Given the description of an element on the screen output the (x, y) to click on. 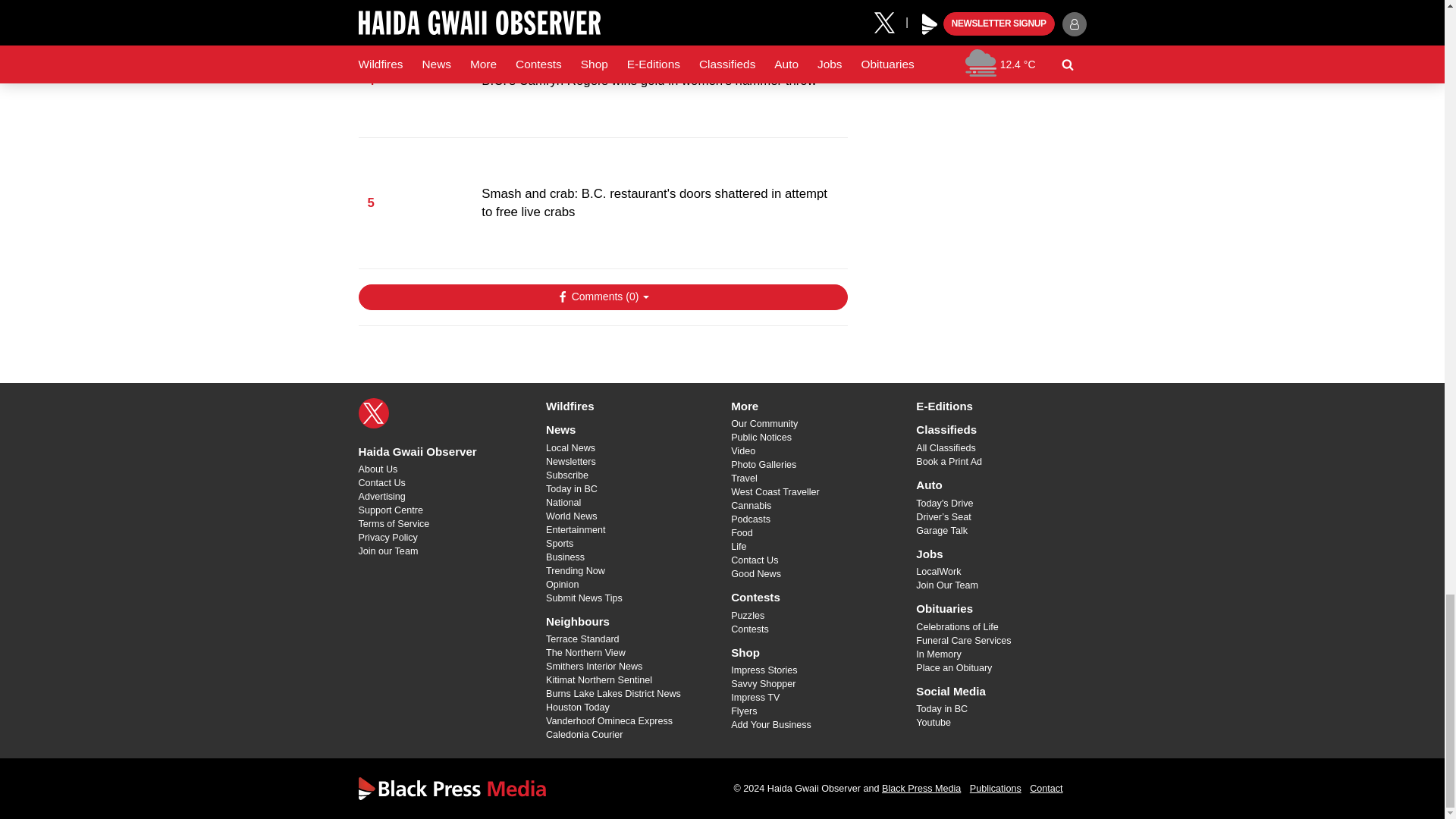
X (373, 413)
Show Comments (602, 297)
